Given the description of an element on the screen output the (x, y) to click on. 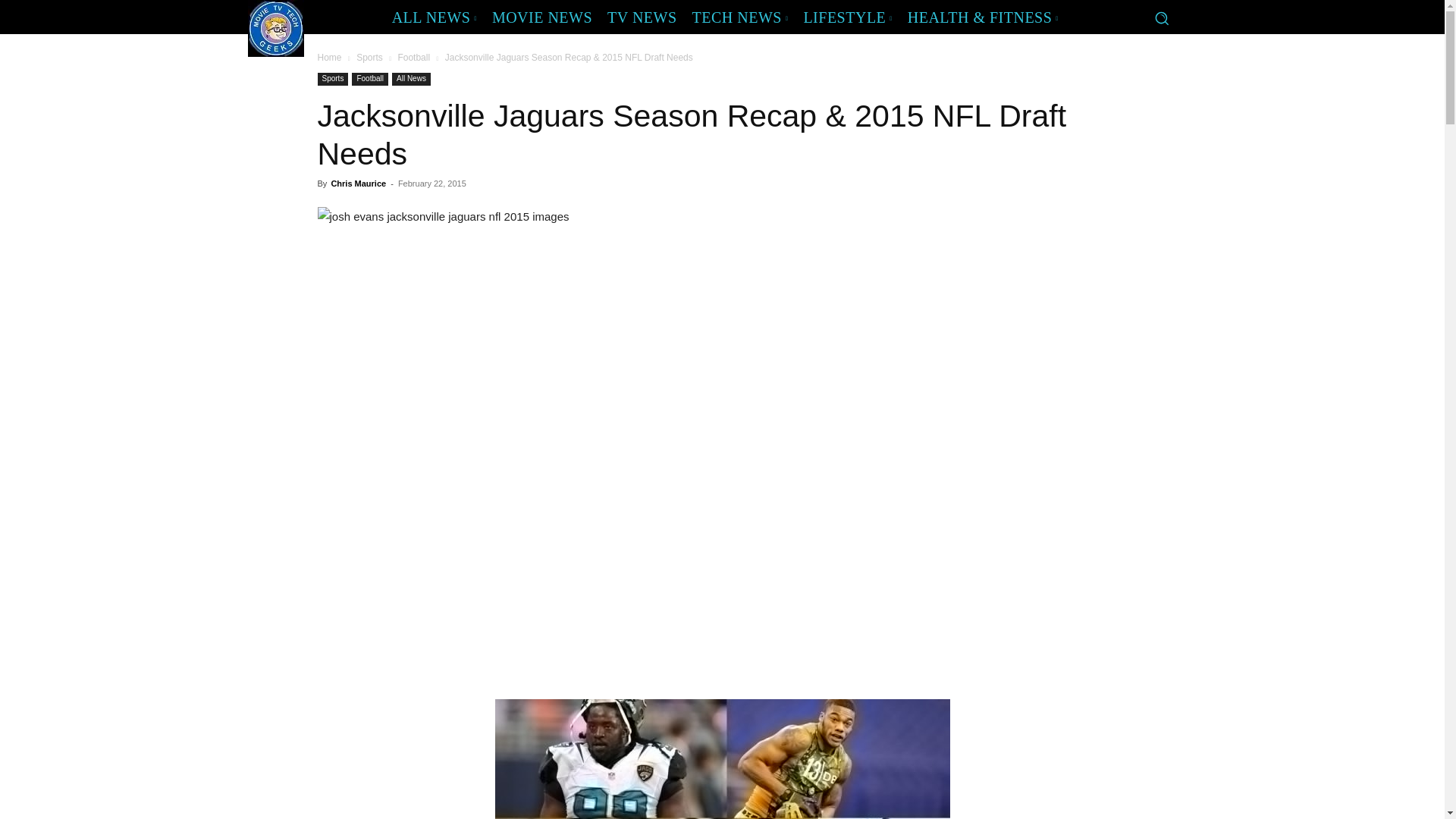
All News (410, 78)
TV NEWS (641, 17)
View all posts in Football (413, 57)
MOVIE NEWS (541, 17)
Football (370, 78)
Home (328, 57)
Football (413, 57)
Chris Maurice (357, 183)
ALL NEWS (434, 17)
TECH NEWS (740, 17)
Sports (332, 78)
View all posts in Sports (369, 57)
Sports (369, 57)
LIFESTYLE (846, 17)
